Given the description of an element on the screen output the (x, y) to click on. 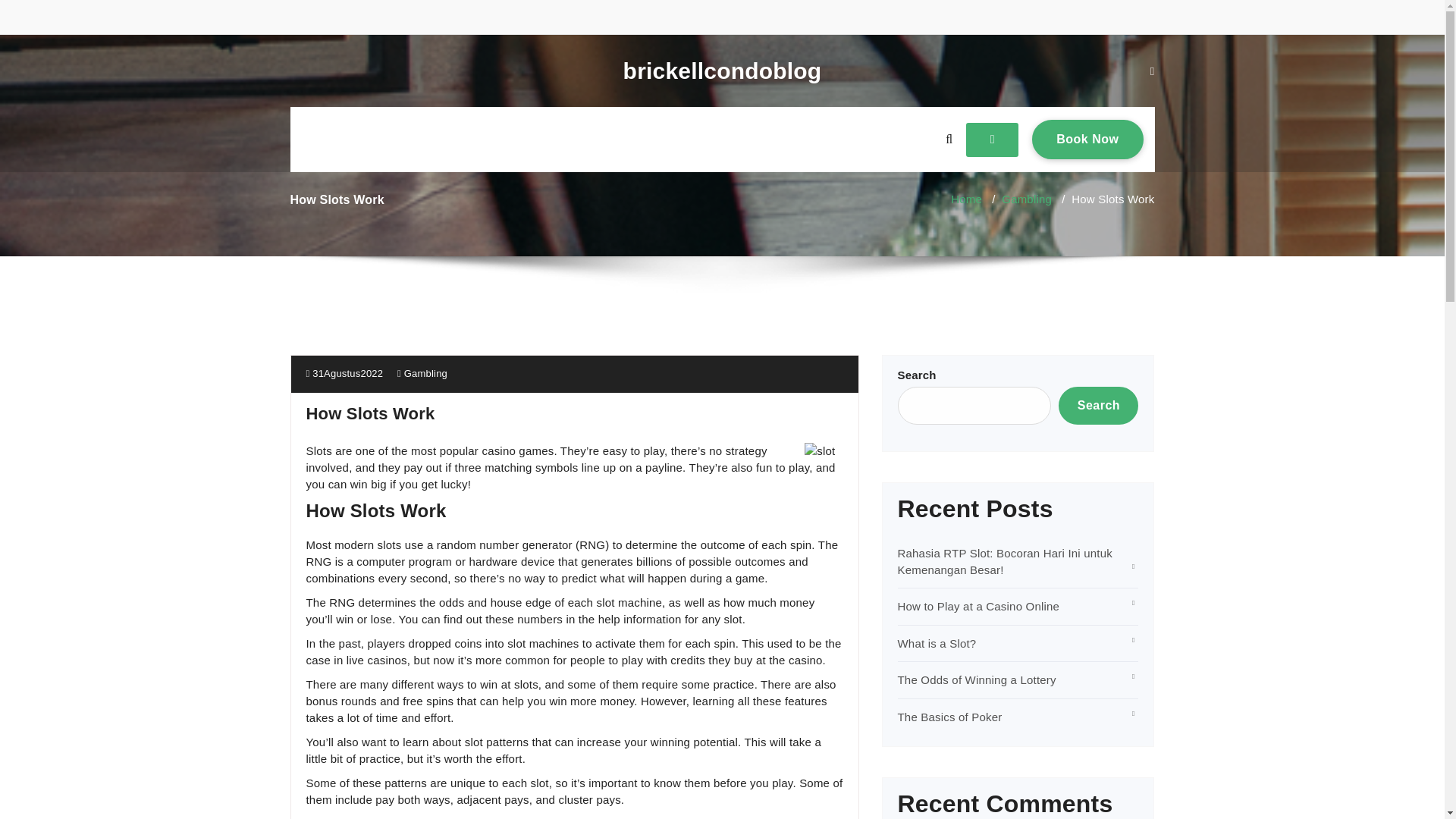
Home (965, 198)
What is a Slot? (937, 643)
Gambling (425, 373)
Rahasia RTP Slot: Bocoran Hari Ini untuk Kemenangan Besar! (1005, 561)
brickellcondoblog (722, 71)
The Basics of Poker (950, 716)
Gambling (1087, 138)
How to Play at a Casino Online (1026, 198)
Search (978, 605)
The Odds of Winning a Lottery (1098, 405)
31Agustus2022 (977, 679)
